Given the description of an element on the screen output the (x, y) to click on. 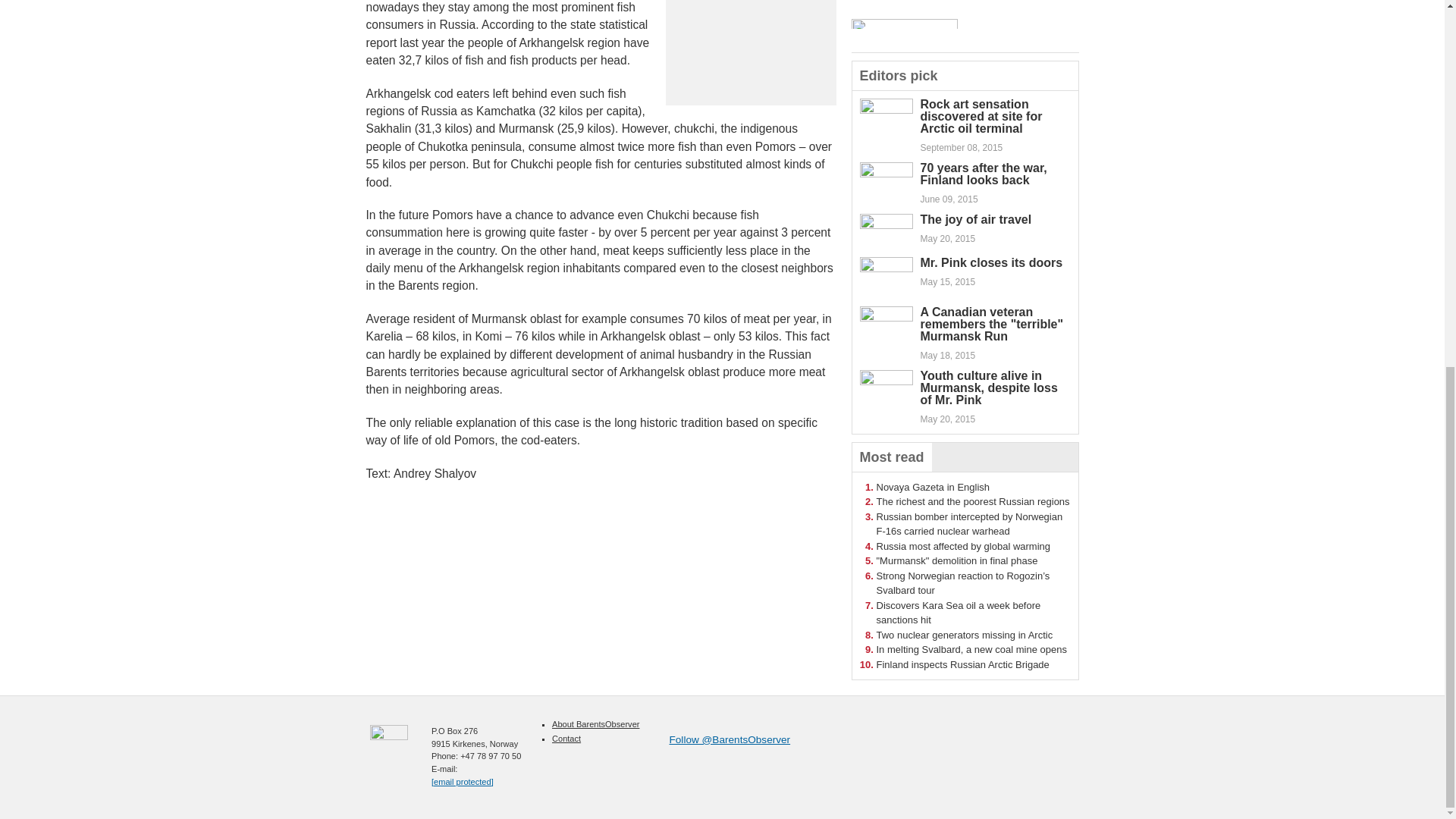
A Canadian veteran remembers the "terrible" Murmansk Run (992, 324)
70 years after the war, Finland looks back (983, 173)
Youth culture alive in Murmansk, despite loss of Mr. Pink (989, 387)
Mr. Pink closes its doors (991, 262)
The joy of air travel (976, 219)
